Given the description of an element on the screen output the (x, y) to click on. 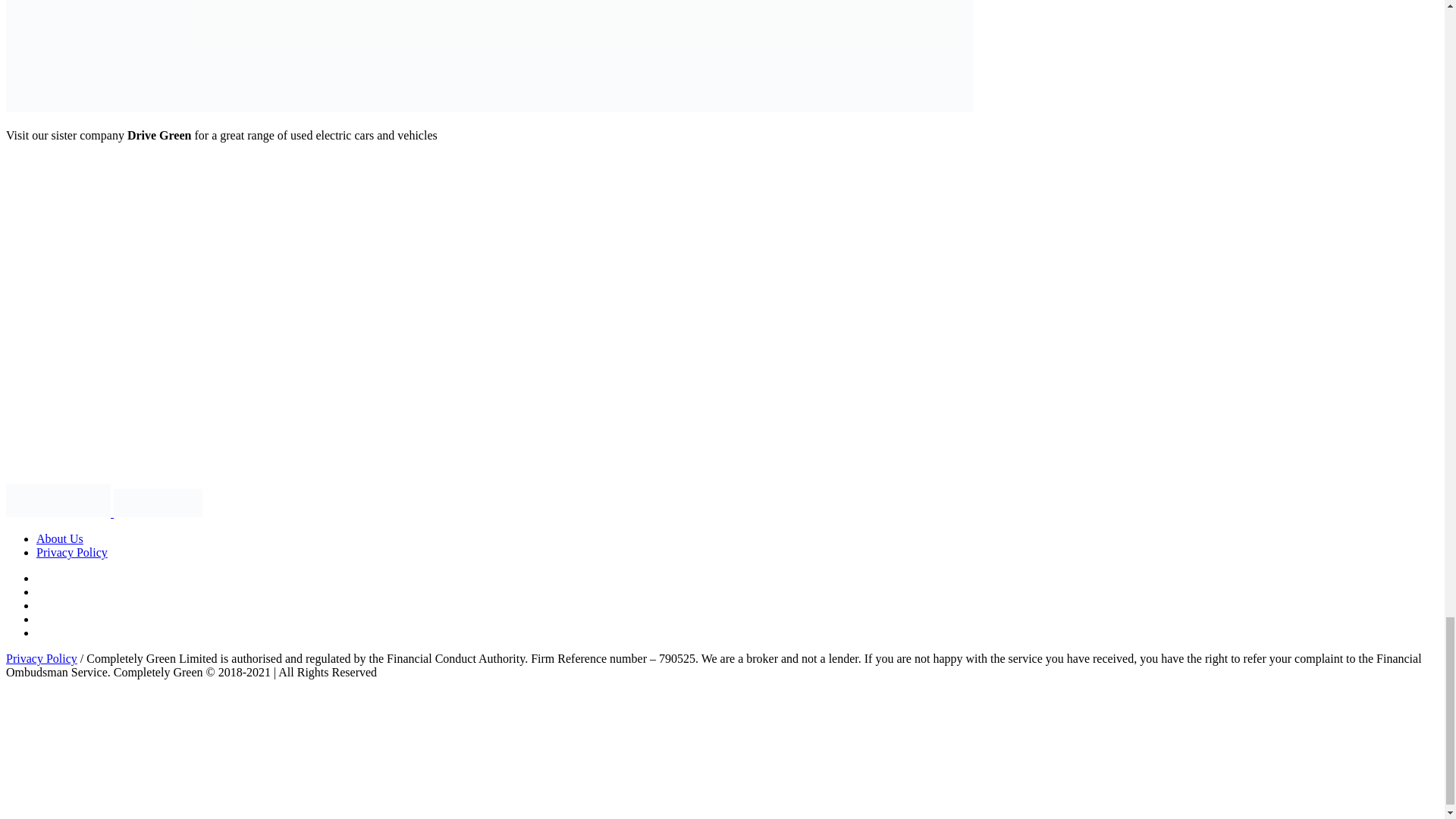
Completely Green (103, 512)
